Given the description of an element on the screen output the (x, y) to click on. 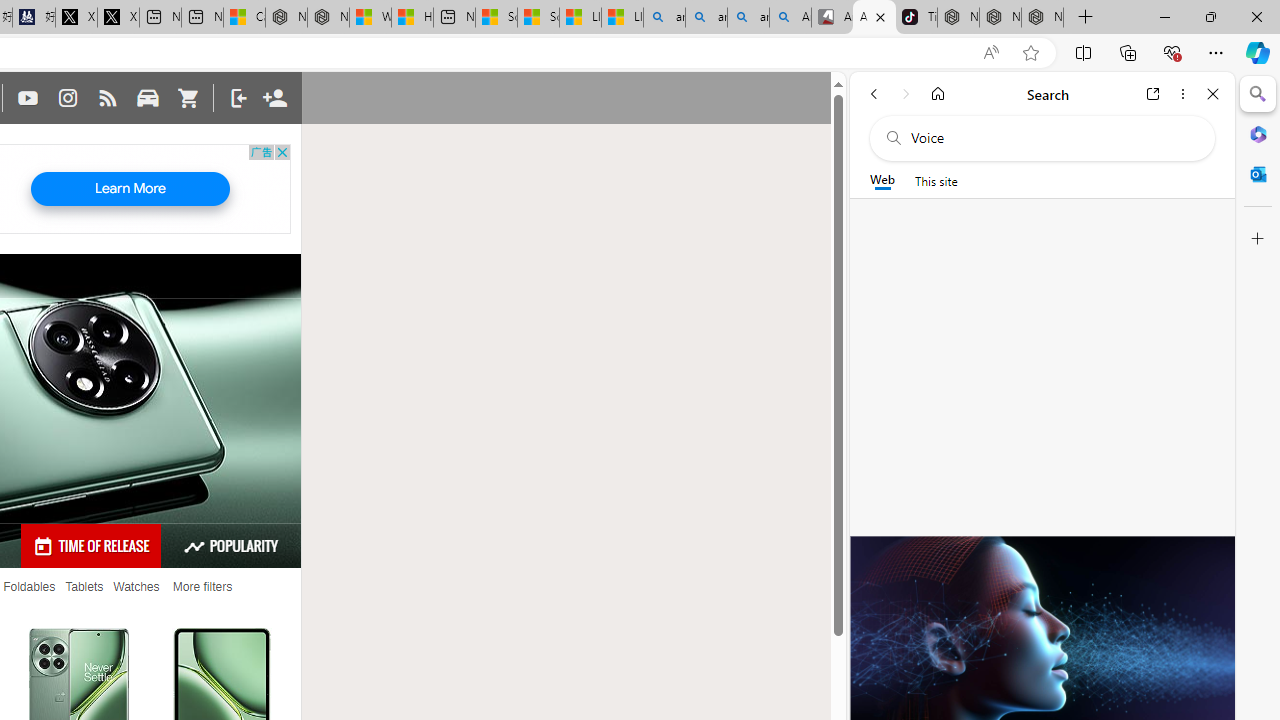
Learn More (129, 189)
Watches (136, 587)
Microsoft 365 (1258, 133)
Tablets (84, 587)
Nordace - Siena Pro 15 Essential Set (1042, 17)
Web scope (882, 180)
